Given the description of an element on the screen output the (x, y) to click on. 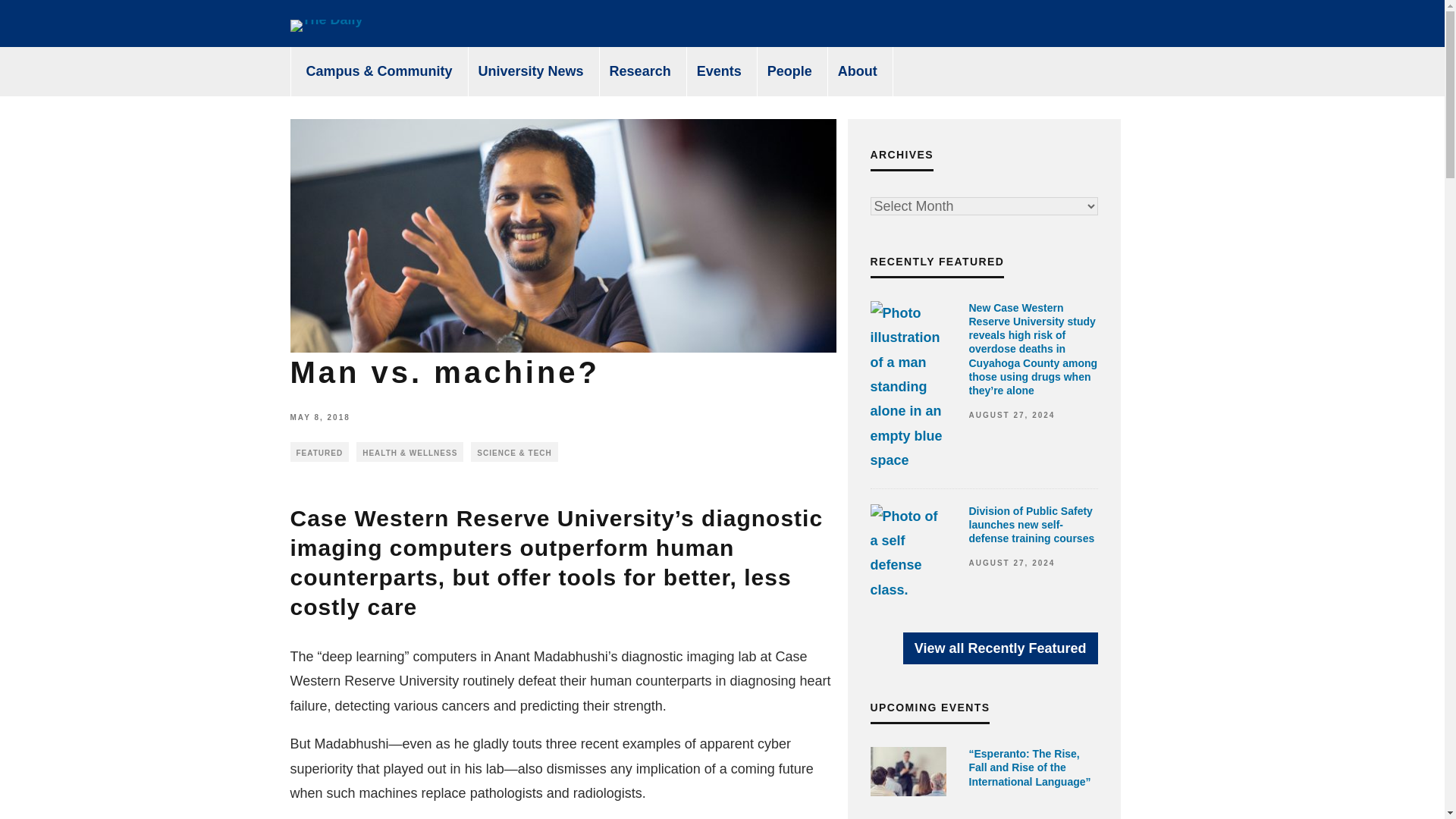
FEATURED (319, 451)
Research (640, 70)
People (790, 70)
About (857, 70)
University News (531, 70)
Events (719, 70)
